Given the description of an element on the screen output the (x, y) to click on. 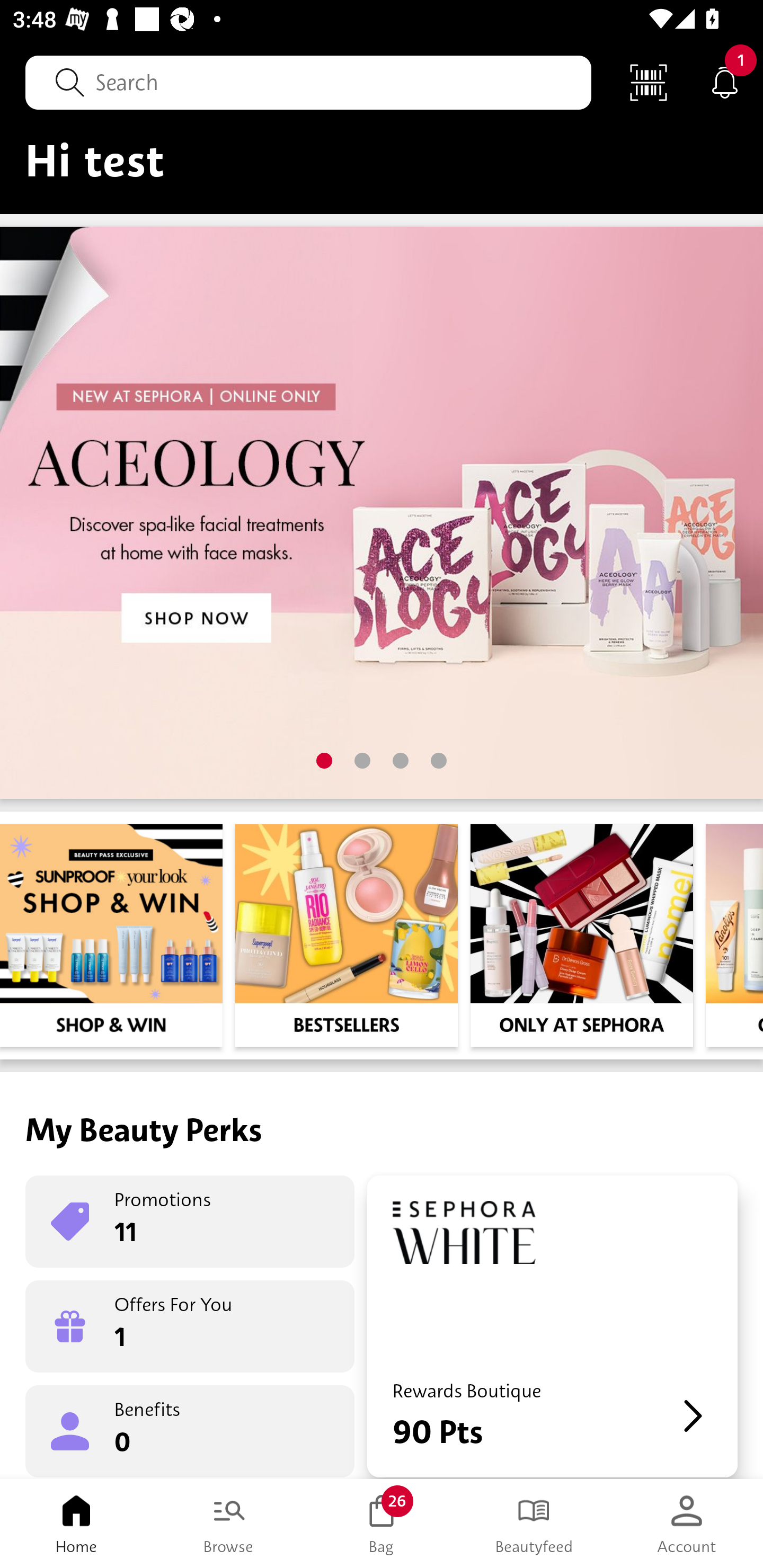
Scan Code (648, 81)
Notifications (724, 81)
Search (308, 81)
RARE BEAUTY Soft Pinch Luminous Powder Blush (111, 1323)
RARE BEAUTY Mini Soft Pinch Liquid Blush (333, 1323)
Browse (228, 1523)
Bag 26 Bag (381, 1523)
Beautyfeed (533, 1523)
Account (686, 1523)
